Given the description of an element on the screen output the (x, y) to click on. 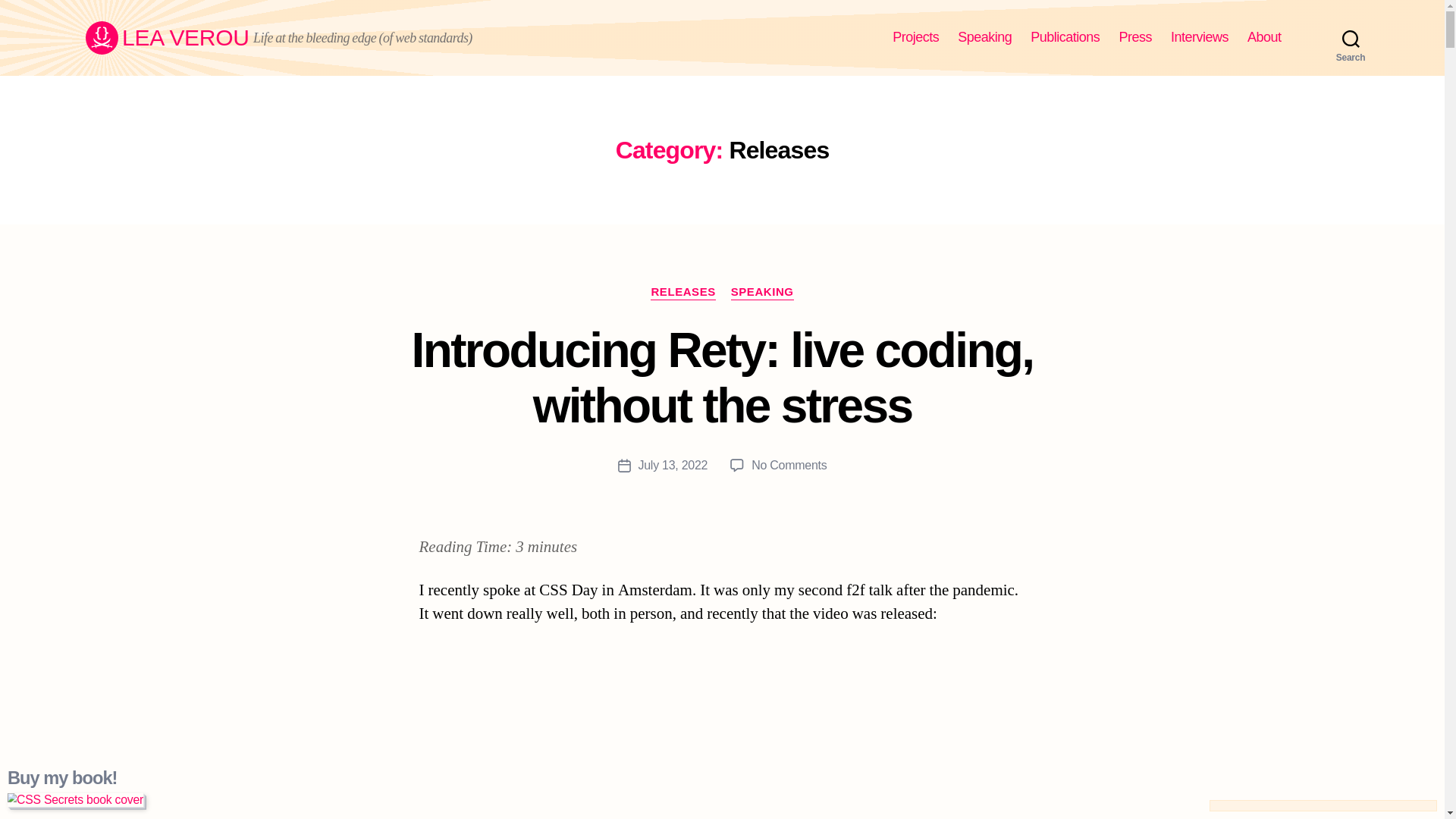
Interviews (1199, 37)
RELEASES (682, 292)
Search (1350, 37)
Publications (1064, 37)
July 13, 2022 (673, 464)
About (1264, 37)
Speaking (984, 37)
SPEAKING (761, 292)
Projects (915, 37)
Introducing Rety: live coding, without the stress (722, 377)
LEA VEROU (166, 37)
Press (1134, 37)
